Given the description of an element on the screen output the (x, y) to click on. 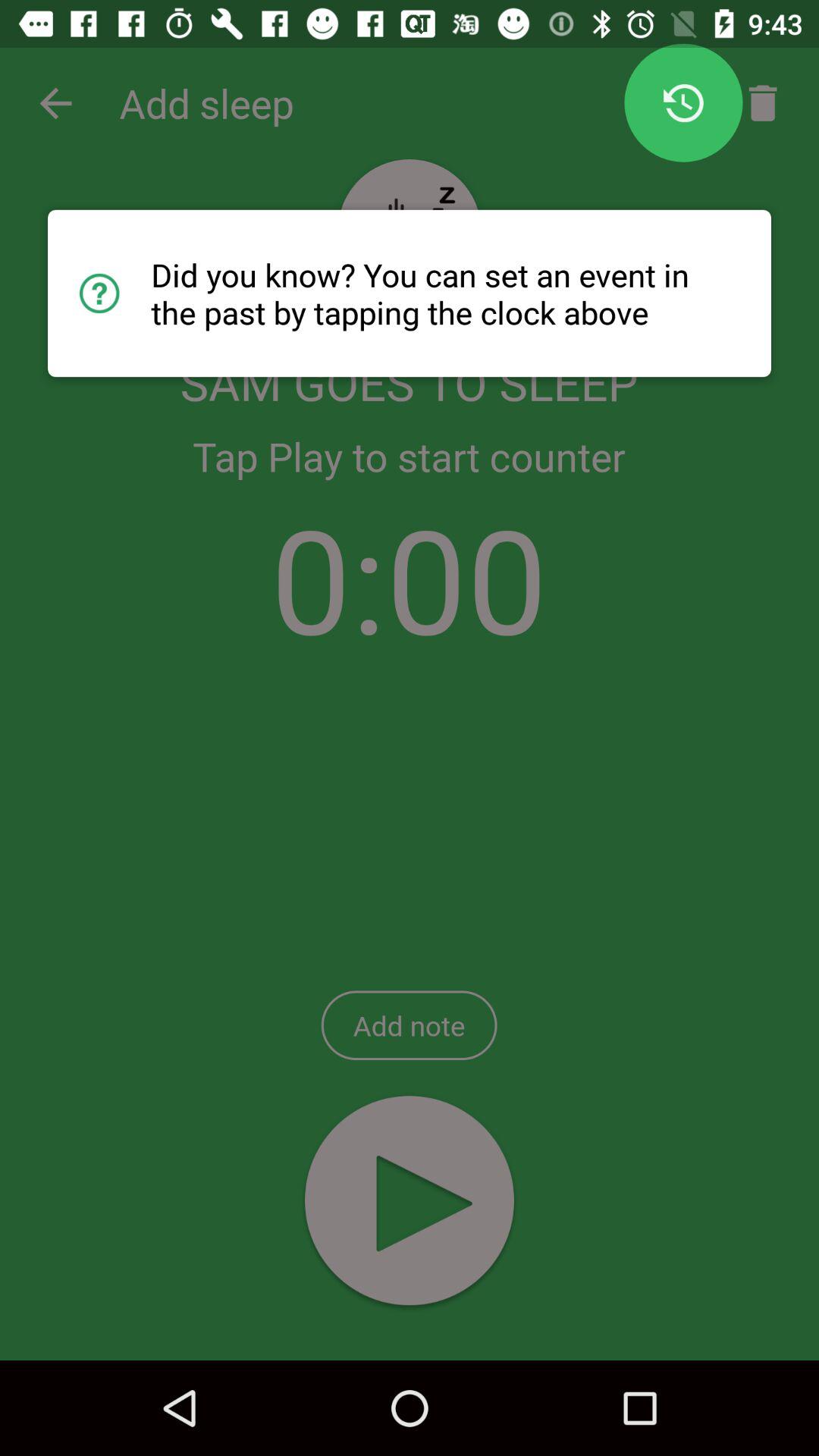
click the icon above add note item (408, 577)
